Given the description of an element on the screen output the (x, y) to click on. 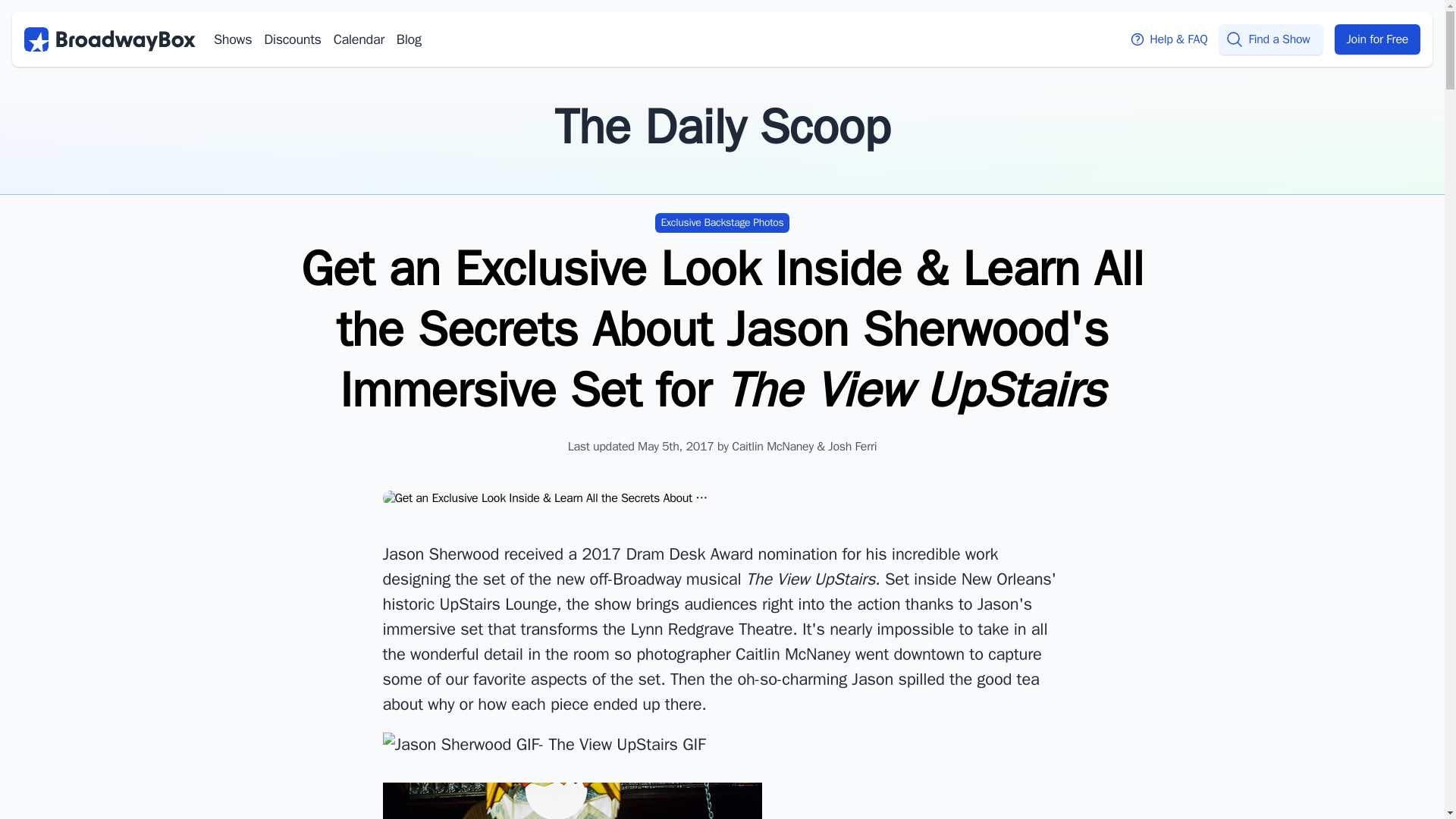
Find a Show (1271, 39)
Blog (409, 39)
The View UpStairs (810, 578)
Exclusive Backstage Photos (722, 222)
Calendar (358, 39)
Shows (232, 39)
The Daily Scoop (721, 127)
Discounts (291, 39)
Join for Free (1378, 39)
